Given the description of an element on the screen output the (x, y) to click on. 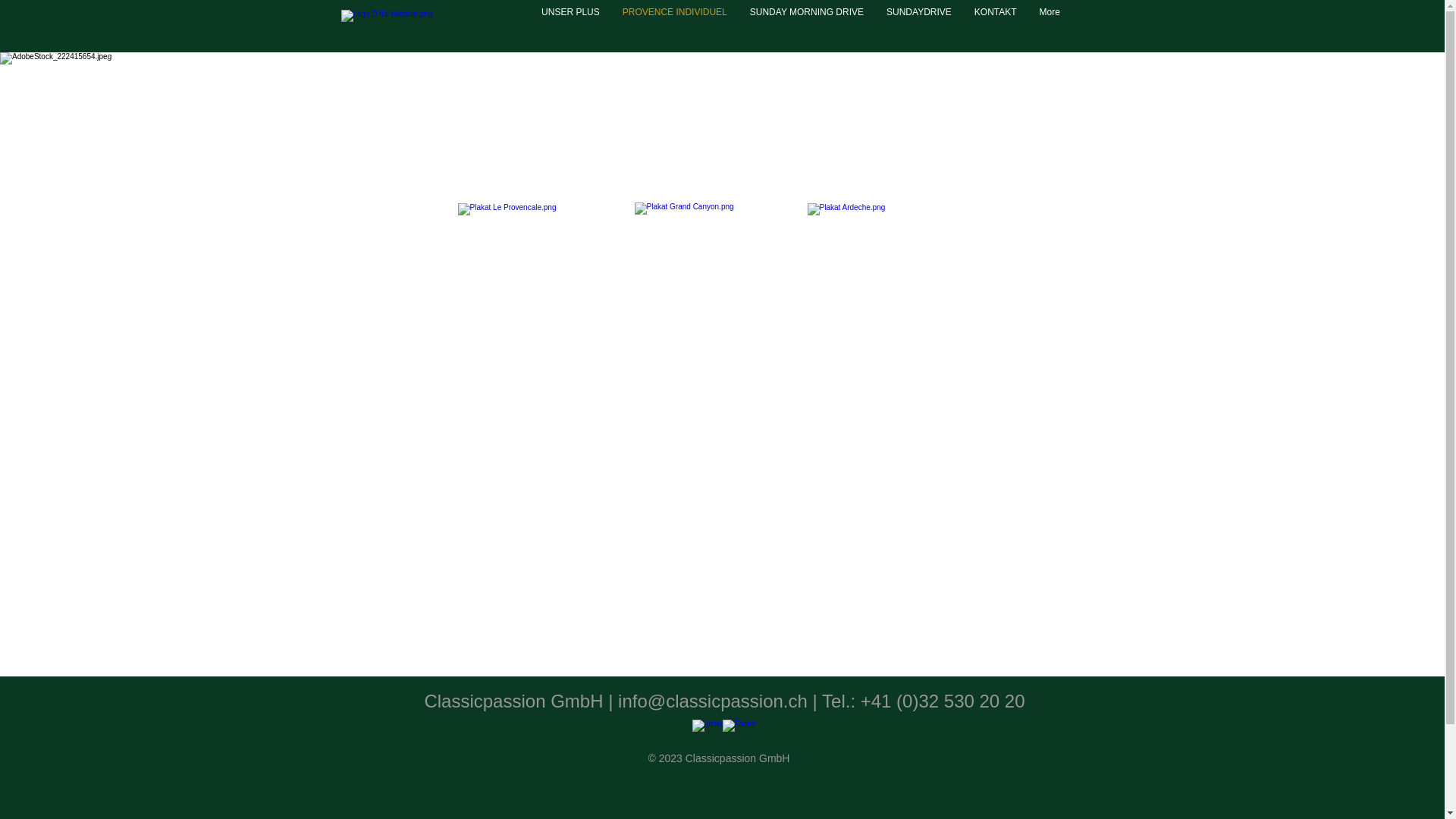
PROVENCE INDIVIDUEL 2024 Element type: text (703, 109)
SUNDAYDRIVE Element type: text (919, 26)
E Type rot komplett mit grauer Schrift.jpg.png Element type: hover (433, 27)
info@classicpassion.ch Element type: text (712, 700)
KONTAKT Element type: text (995, 26)
UNSER PLUS Element type: text (570, 26)
SUNDAY MORNING DRIVE Element type: text (806, 26)
PROVENCE INDIVIDUEL Element type: text (674, 26)
